Given the description of an element on the screen output the (x, y) to click on. 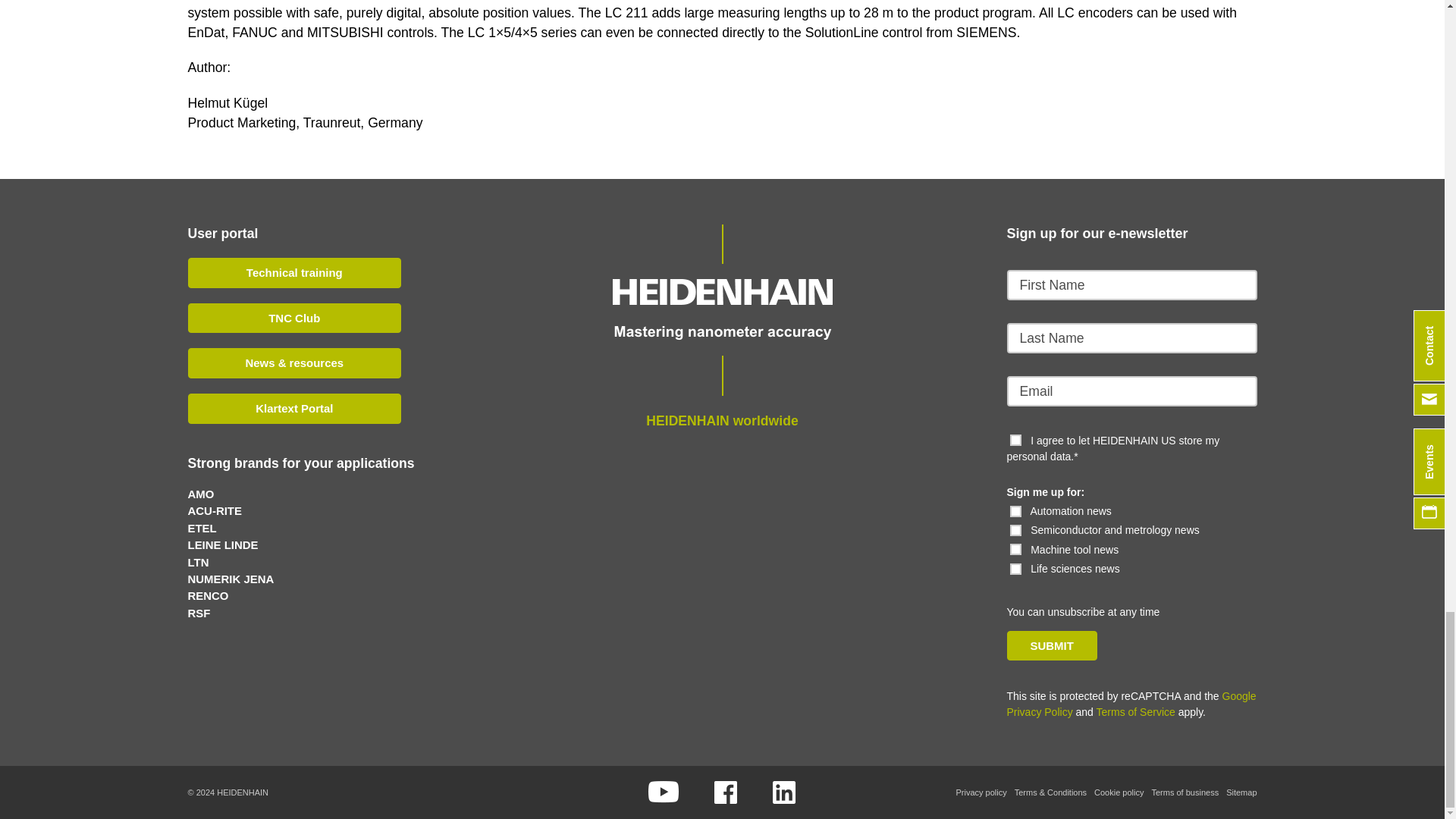
Machine tool news (1016, 549)
Semiconductor and metrology news (1016, 530)
Life sciences news (1016, 568)
Automation news (1016, 511)
SUBMIT (1052, 645)
